Given the description of an element on the screen output the (x, y) to click on. 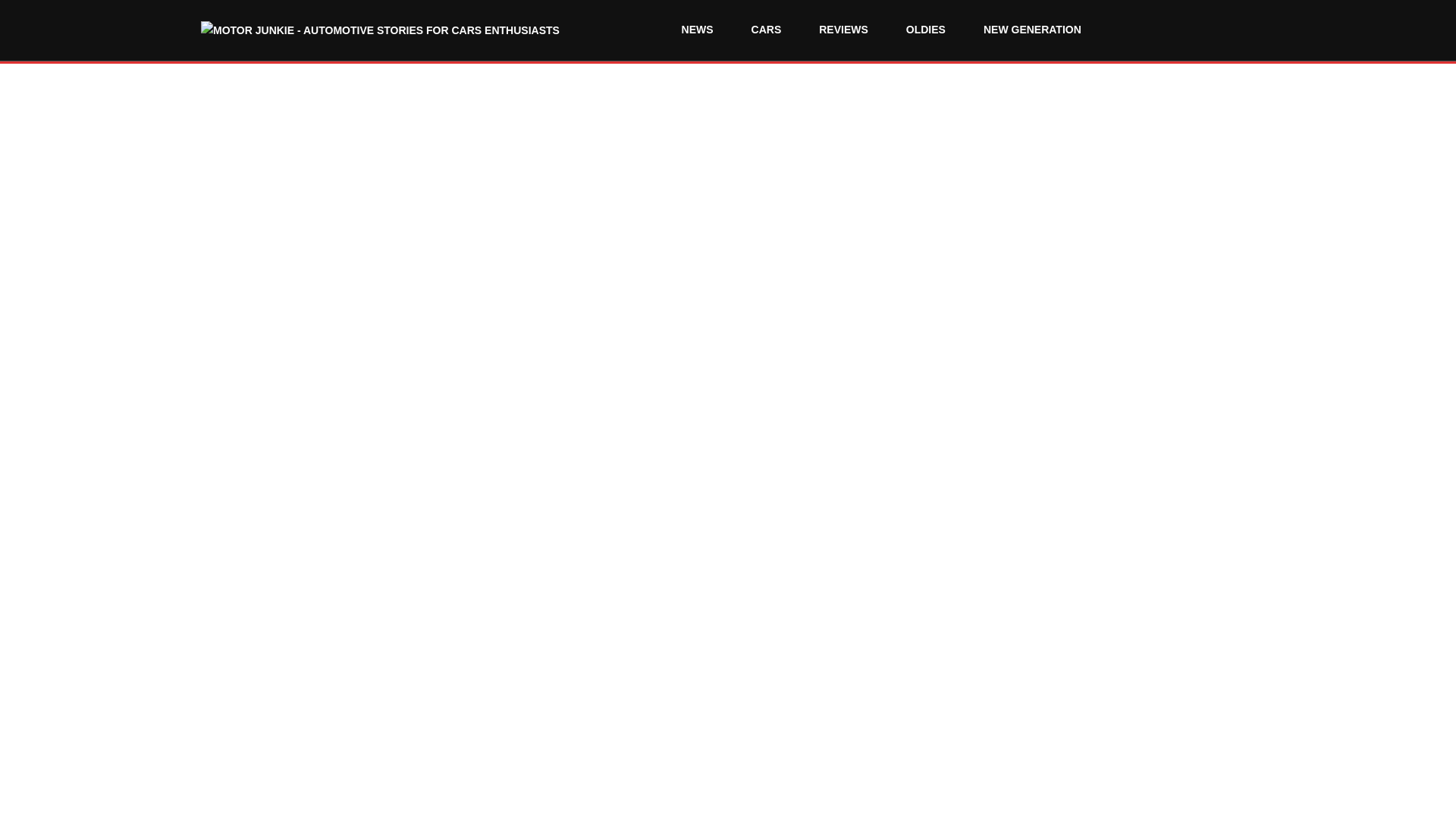
REVIEWS (843, 29)
CARS (766, 29)
OLDIES (925, 29)
NEWS (697, 29)
NEW GENERATION (1032, 29)
